Given the description of an element on the screen output the (x, y) to click on. 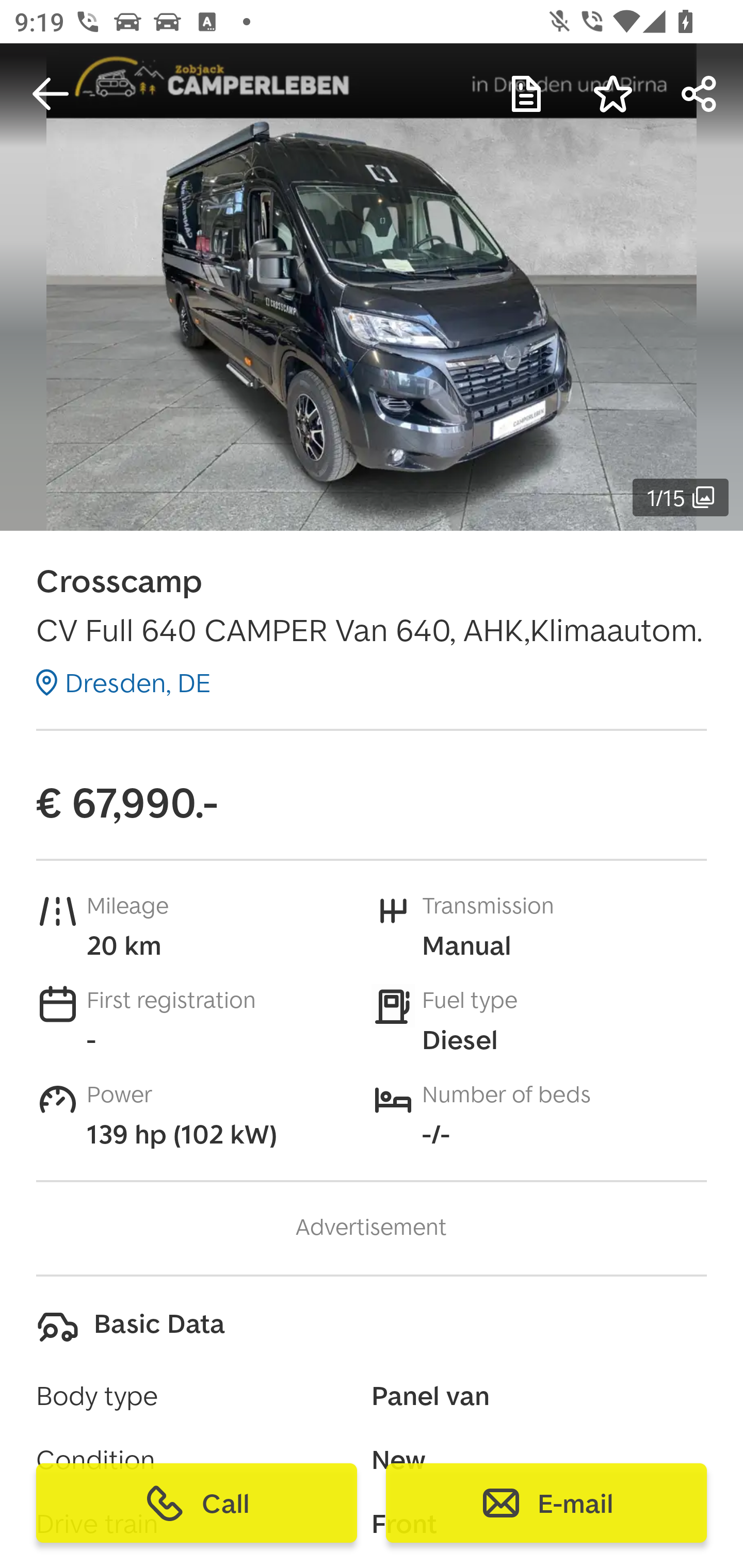
Navigate up (50, 93)
My Notes (525, 93)
Save (612, 93)
Forward (699, 93)
Dresden, DE (123, 681)
Call (196, 1502)
E-mail (545, 1502)
